Given the description of an element on the screen output the (x, y) to click on. 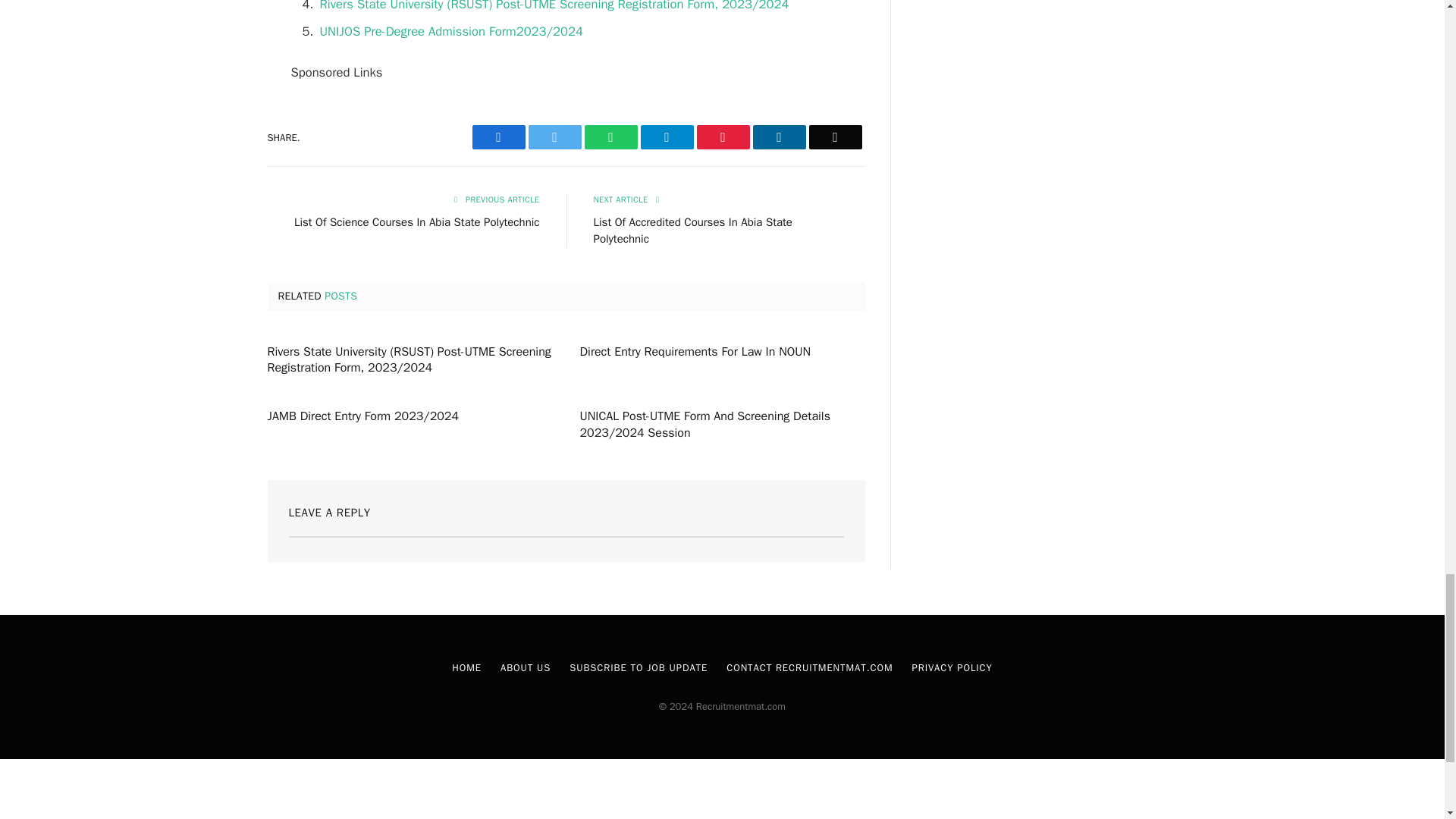
Facebook (497, 137)
Twitter (553, 137)
LinkedIn (778, 137)
WhatsApp (610, 137)
Pinterest (722, 137)
Telegram (666, 137)
